Given the description of an element on the screen output the (x, y) to click on. 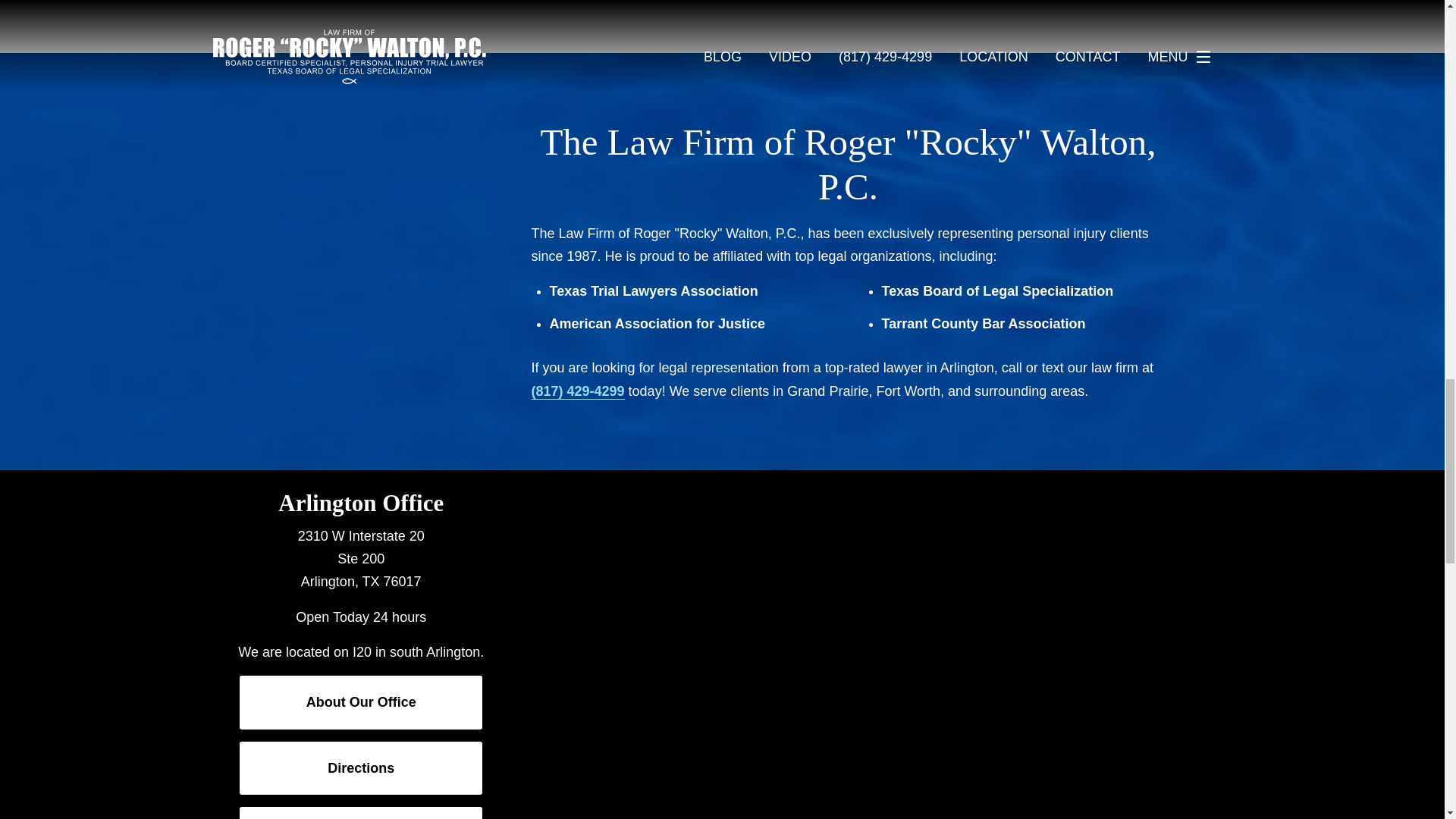
Locations (1026, 481)
About Our Office (360, 701)
Directions (360, 768)
Arlington Office (361, 502)
